Given the description of an element on the screen output the (x, y) to click on. 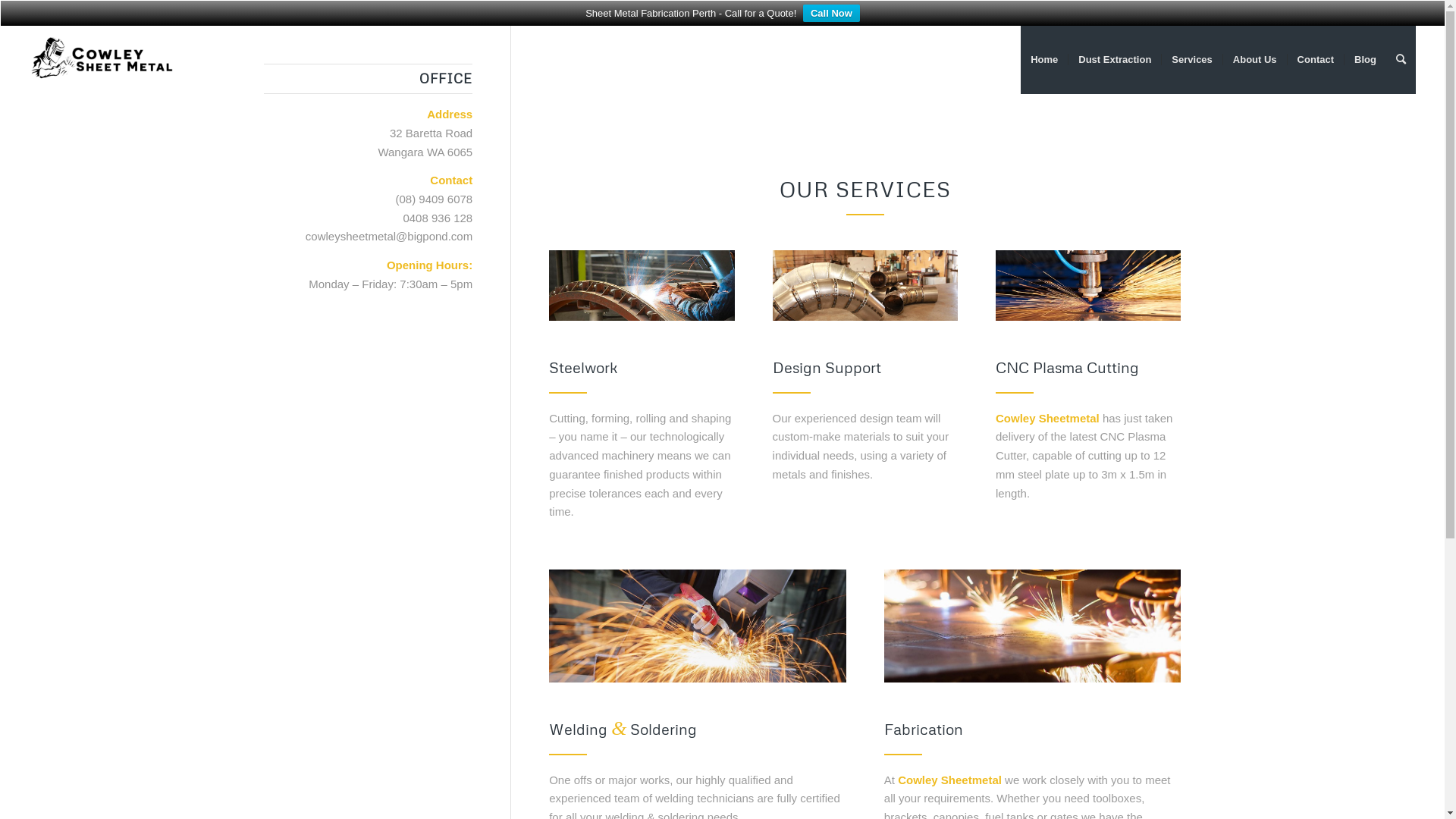
About Us Element type: text (1254, 59)
CNC Plasma Cutter Element type: hover (1032, 625)
Services Element type: text (1191, 59)
Dust Extraction Element type: text (1114, 59)
cutting sheet metal with CNC plasma cutter Element type: hover (1087, 285)
Welding Services Element type: hover (641, 285)
Metal Fabrication - Ducting Lobster Back Bend Element type: hover (864, 285)
Call Now Element type: text (831, 12)
sheet metal fabrication perth Element type: hover (697, 625)
Home Element type: text (1043, 59)
Blog Element type: text (1364, 59)
Contact Element type: text (1314, 59)
